Given the description of an element on the screen output the (x, y) to click on. 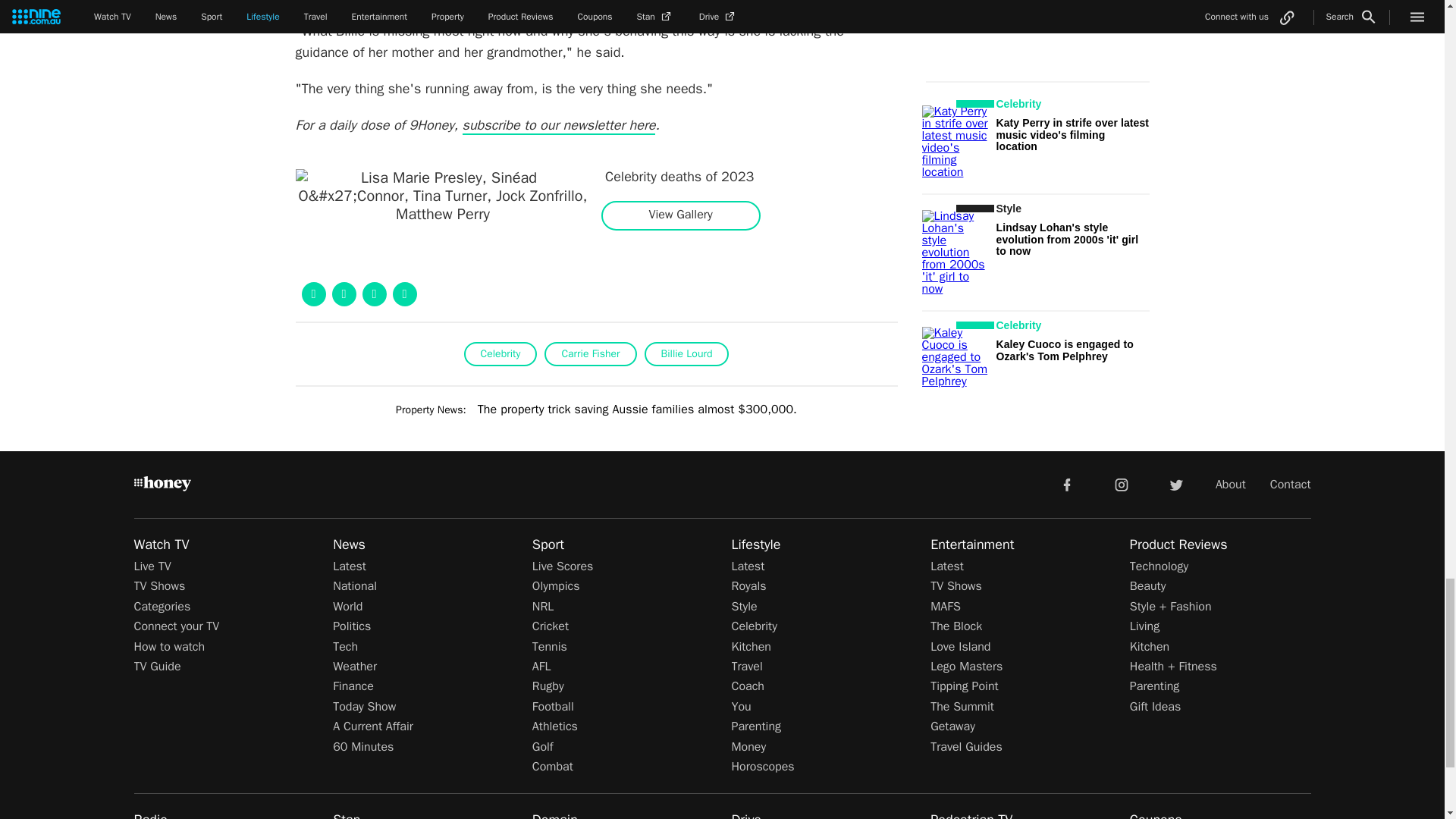
subscribe to our newsletter here (559, 126)
instagram (1121, 483)
facebook (1066, 483)
twitter (1175, 483)
